Given the description of an element on the screen output the (x, y) to click on. 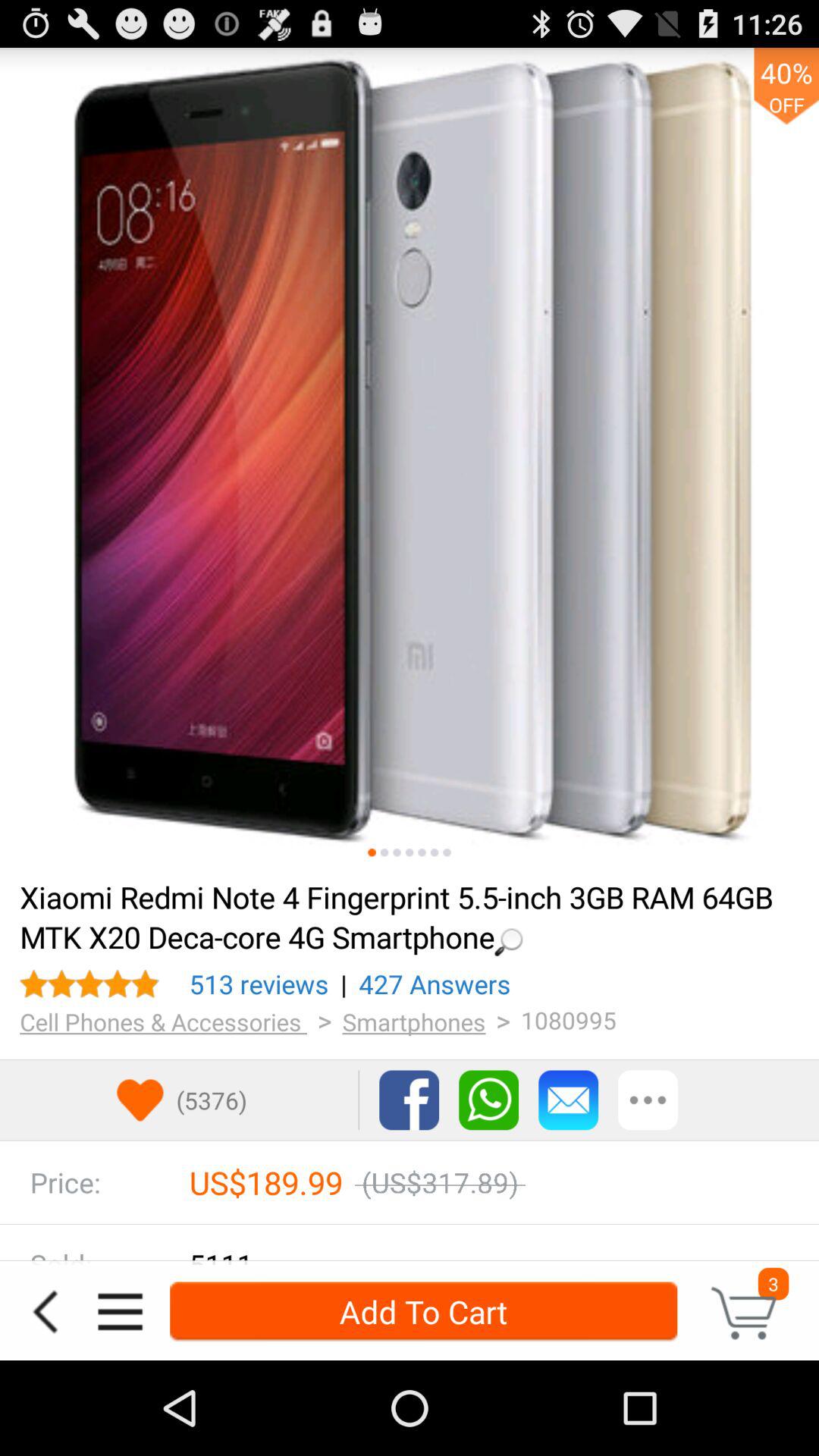
press the item above loading... (409, 456)
